Given the description of an element on the screen output the (x, y) to click on. 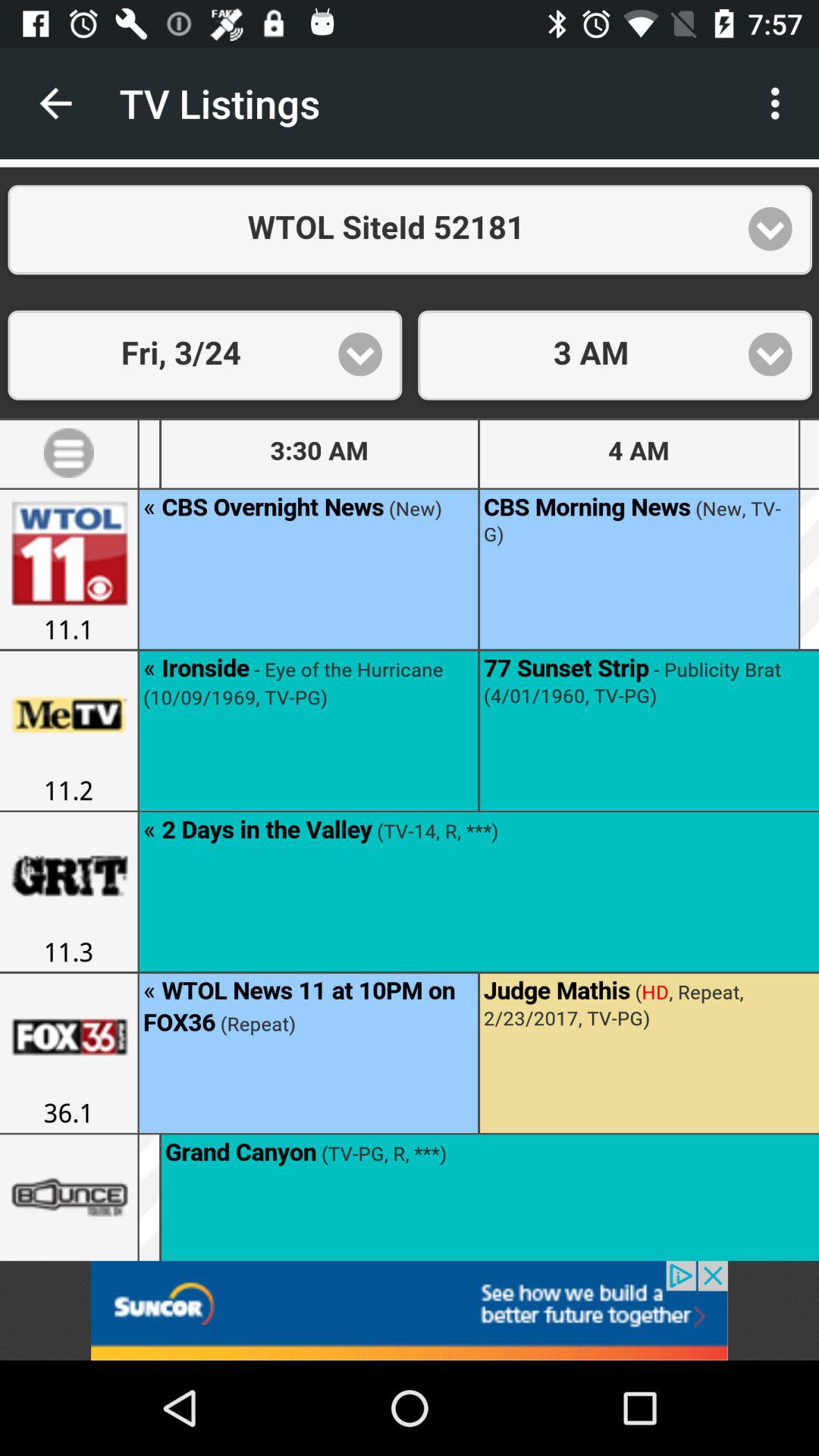
this is add on the app (409, 1310)
